Given the description of an element on the screen output the (x, y) to click on. 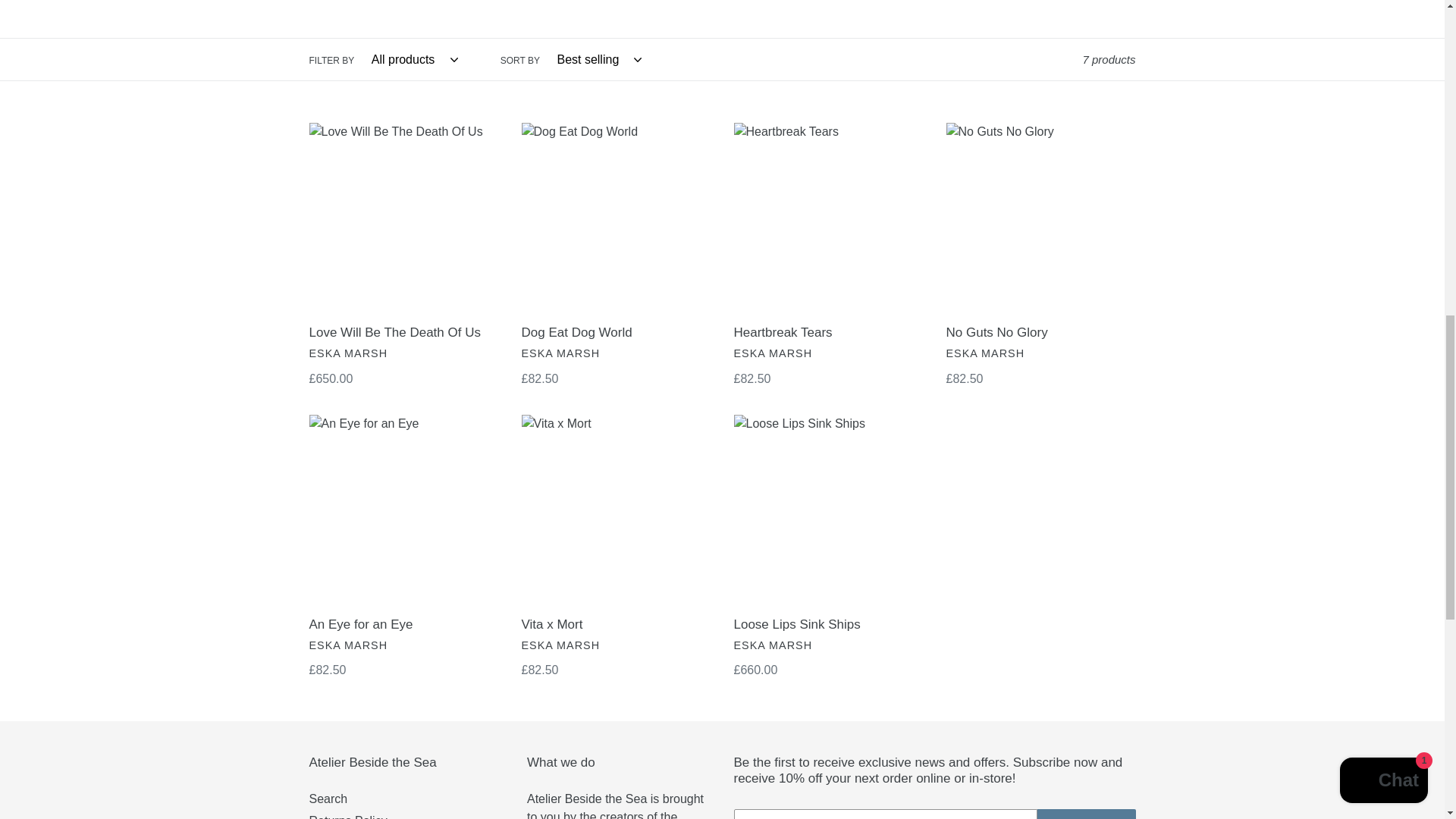
Eska Marsh (348, 645)
Eska Marsh (772, 353)
Eska Marsh (772, 645)
Eska Marsh (348, 353)
Eska Marsh (560, 645)
Eska Marsh (985, 353)
Eska Marsh (560, 353)
